Given the description of an element on the screen output the (x, y) to click on. 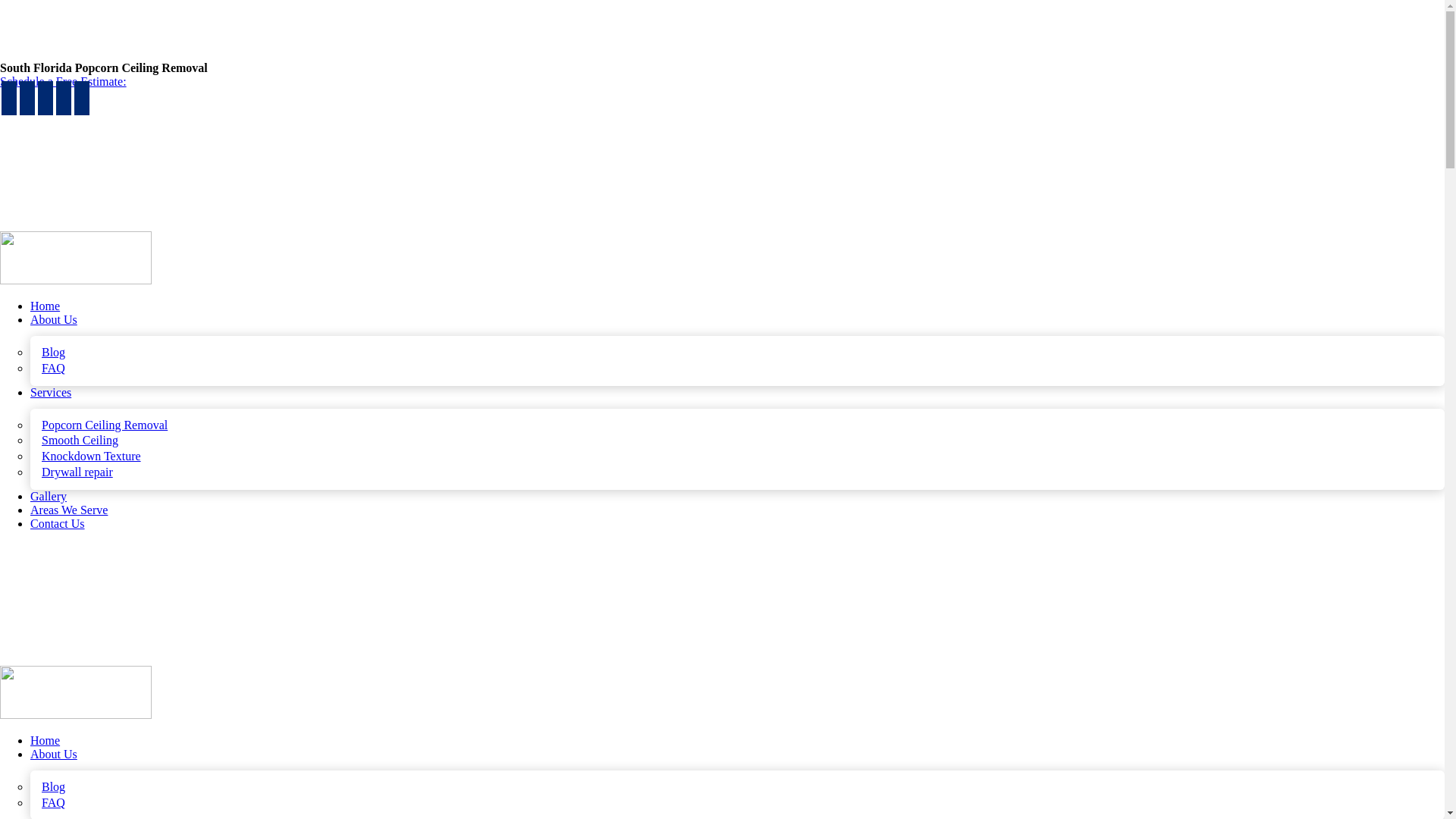
Blog (53, 786)
Home (44, 739)
Knockdown Texture (91, 456)
Popcorn Ceiling Removal (104, 424)
Areas We Serve (68, 509)
About Us (53, 318)
Smooth Ceiling (79, 439)
FAQ (53, 367)
Blog (53, 352)
About Us (53, 753)
Services (50, 391)
Schedule a Free Estimate: (63, 81)
Contact Us (57, 522)
Home (44, 305)
Drywall repair (76, 471)
